Given the description of an element on the screen output the (x, y) to click on. 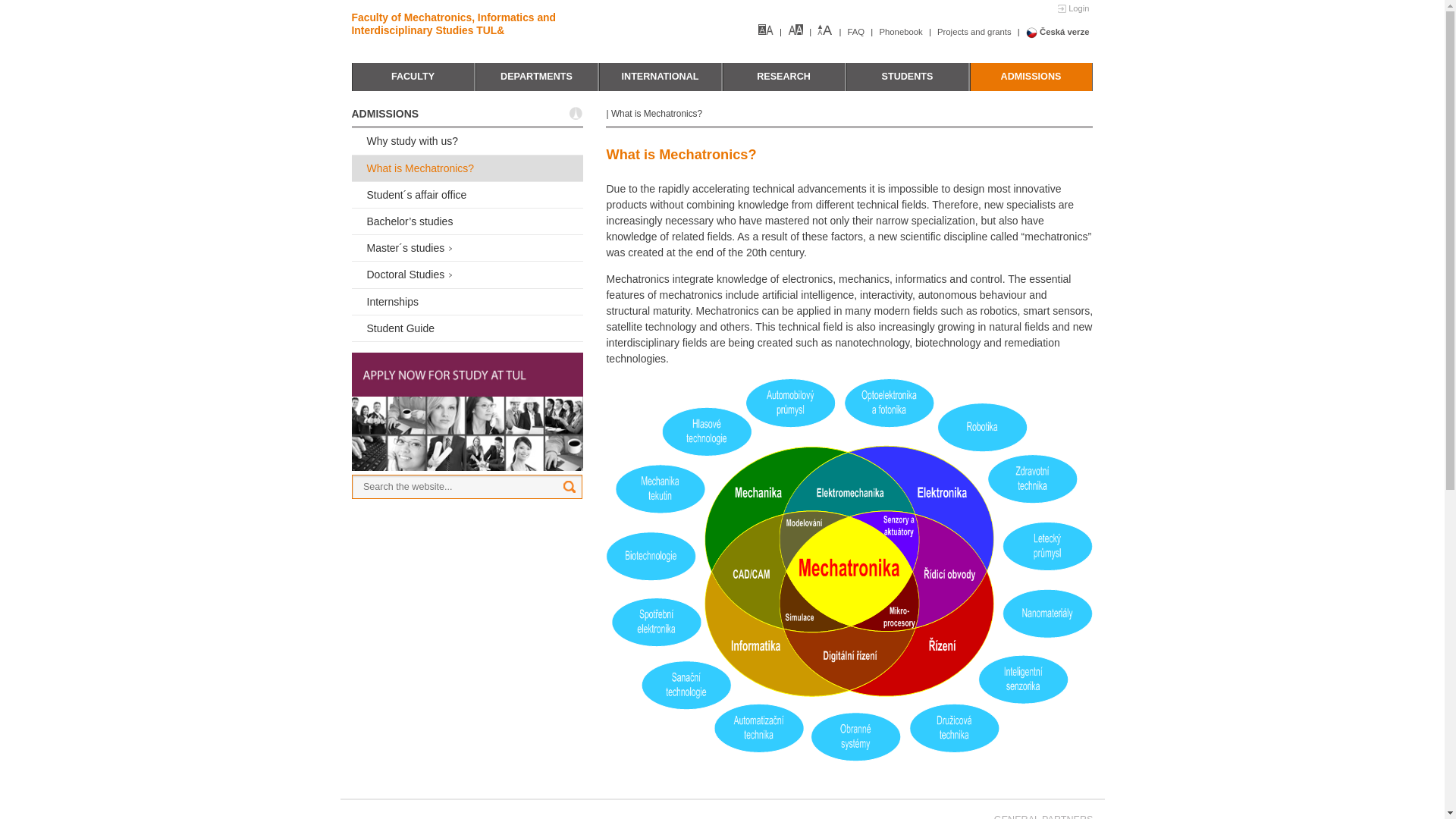
ADMISSIONS (1029, 76)
Projects and grants (975, 31)
Why study with us? (467, 140)
Doctoral Studies (467, 274)
Login (1073, 8)
Student Guide (467, 328)
STUDENTS (907, 76)
DEPARTMENTS (536, 76)
What is Mechatronics? (467, 167)
Internships (467, 301)
Phonebook (901, 31)
INTERNATIONAL (660, 76)
FAQ (857, 31)
